Given the description of an element on the screen output the (x, y) to click on. 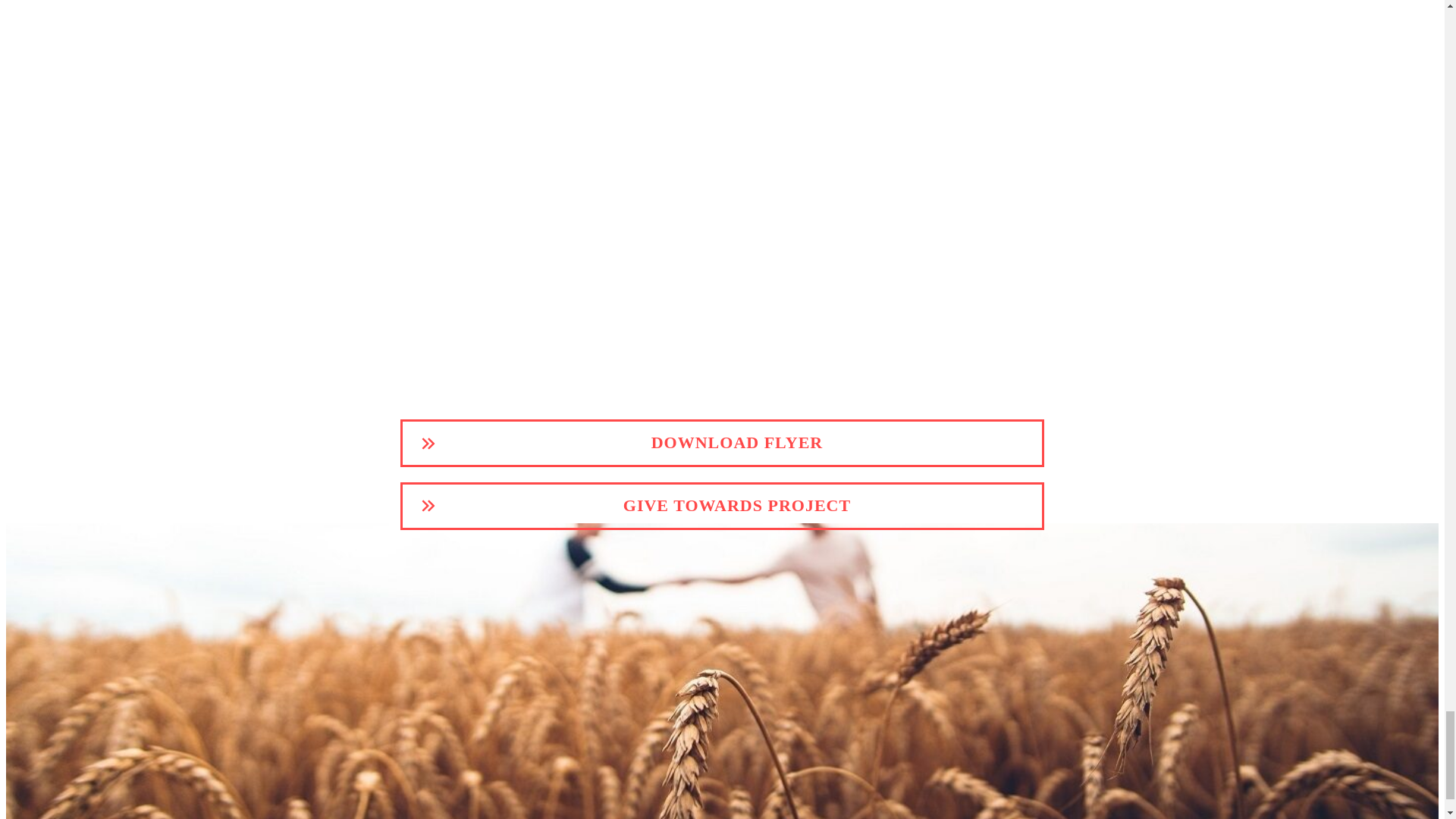
GIVE TOWARDS PROJECT (721, 505)
DOWNLOAD FLYER (721, 442)
GIVE TOWARDS PROJECT (721, 505)
